Given the description of an element on the screen output the (x, y) to click on. 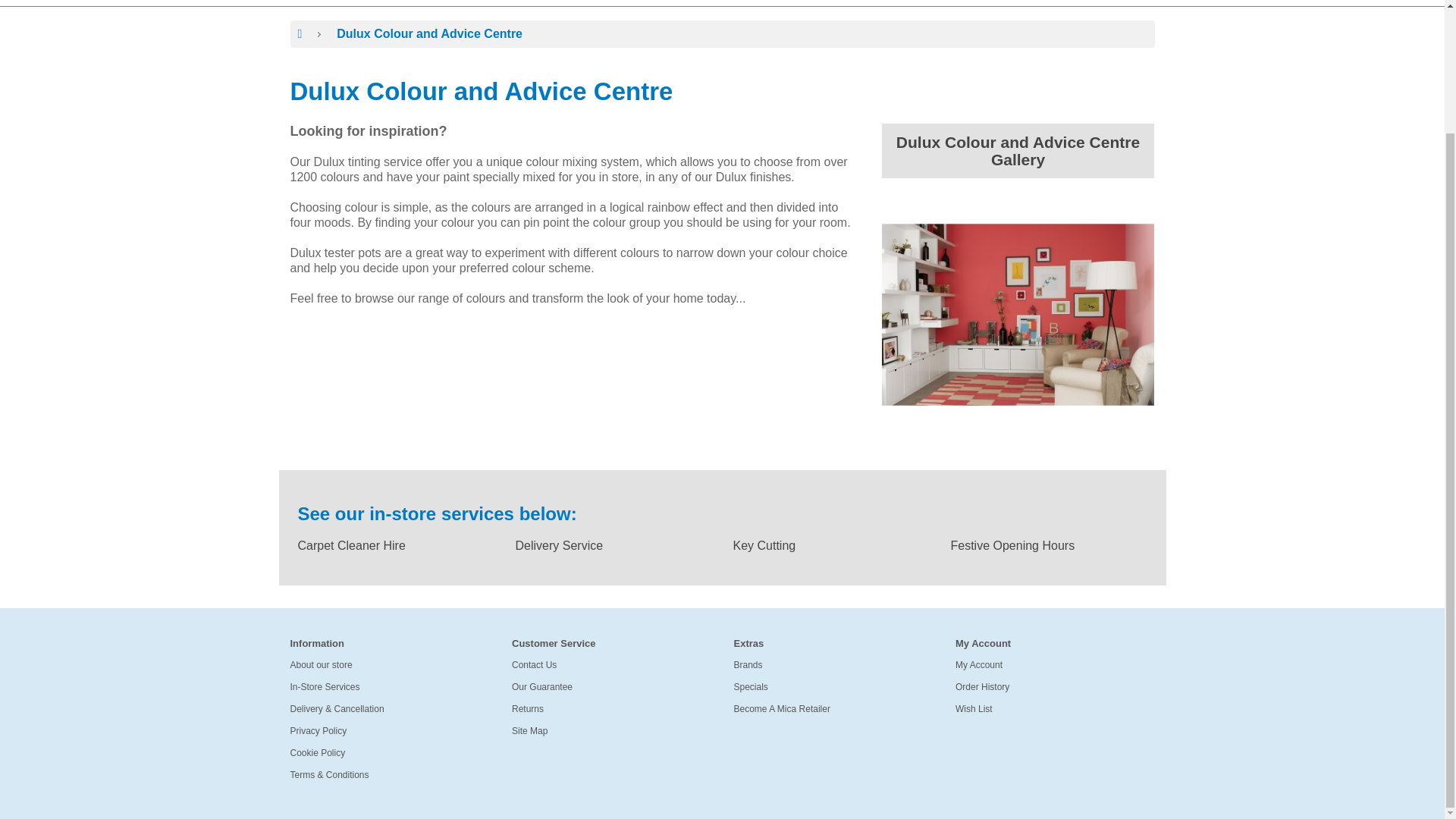
Hardware (567, 2)
DIY (481, 2)
Home (660, 2)
